Given the description of an element on the screen output the (x, y) to click on. 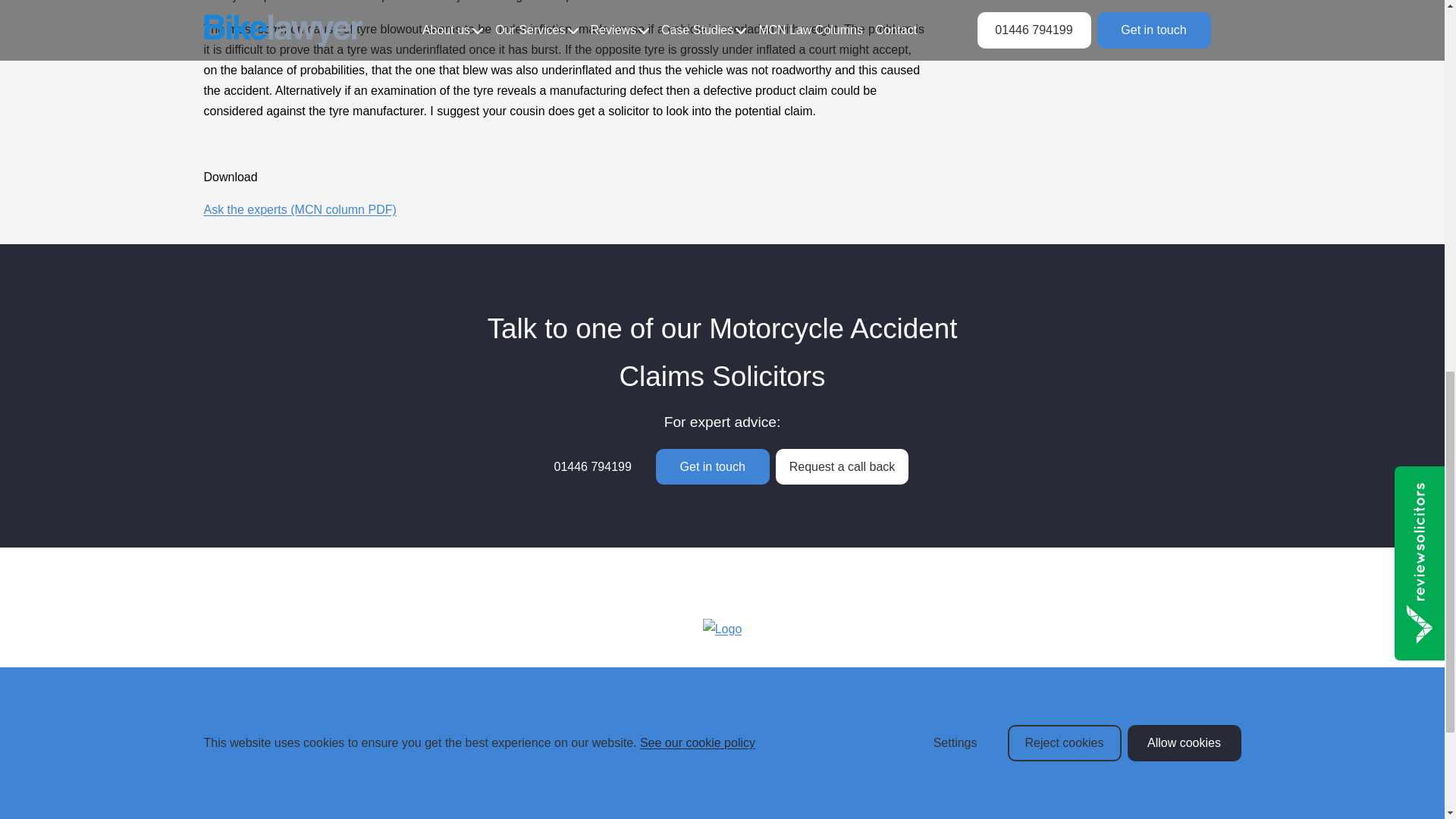
SRA Badge (1074, 817)
Visit our Facebook account (1013, 788)
Visit our Instagram account (1141, 788)
Visit our Linkedin account (1099, 788)
Visit our Twitter account (1056, 788)
